Given the description of an element on the screen output the (x, y) to click on. 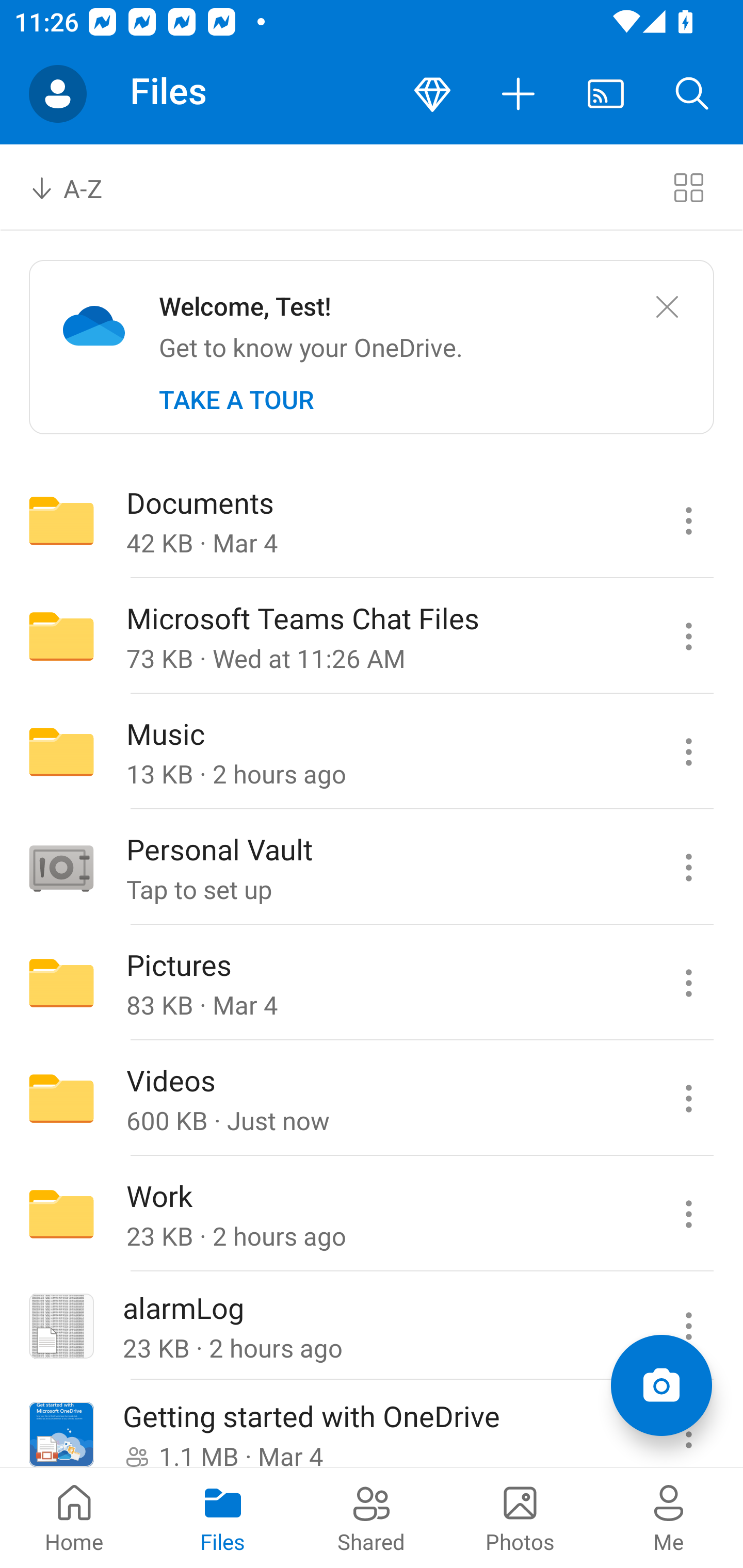
Account switcher (57, 93)
Cast. Disconnected (605, 93)
Premium button (432, 93)
More actions button (518, 93)
Search button (692, 93)
A-Z Sort by combo box, sort by name, A to Z (80, 187)
Switch to tiles view (688, 187)
Close (667, 307)
TAKE A TOUR (236, 399)
Folder Documents 42 KB · Mar 4 Documents commands (371, 520)
Documents commands (688, 520)
Microsoft Teams Chat Files commands (688, 636)
Folder Music 13 KB · 2 hours ago Music commands (371, 751)
Music commands (688, 751)
Personal Vault commands (688, 867)
Folder Pictures 83 KB · Mar 4 Pictures commands (371, 983)
Pictures commands (688, 983)
Folder Videos 600 KB · Just now Videos commands (371, 1099)
Videos commands (688, 1099)
Folder Work 23 KB · 2 hours ago Work commands (371, 1214)
Work commands (688, 1214)
alarmLog commands (688, 1325)
Add items Scan (660, 1385)
Home pivot Home (74, 1517)
Shared pivot Shared (371, 1517)
Photos pivot Photos (519, 1517)
Me pivot Me (668, 1517)
